Given the description of an element on the screen output the (x, y) to click on. 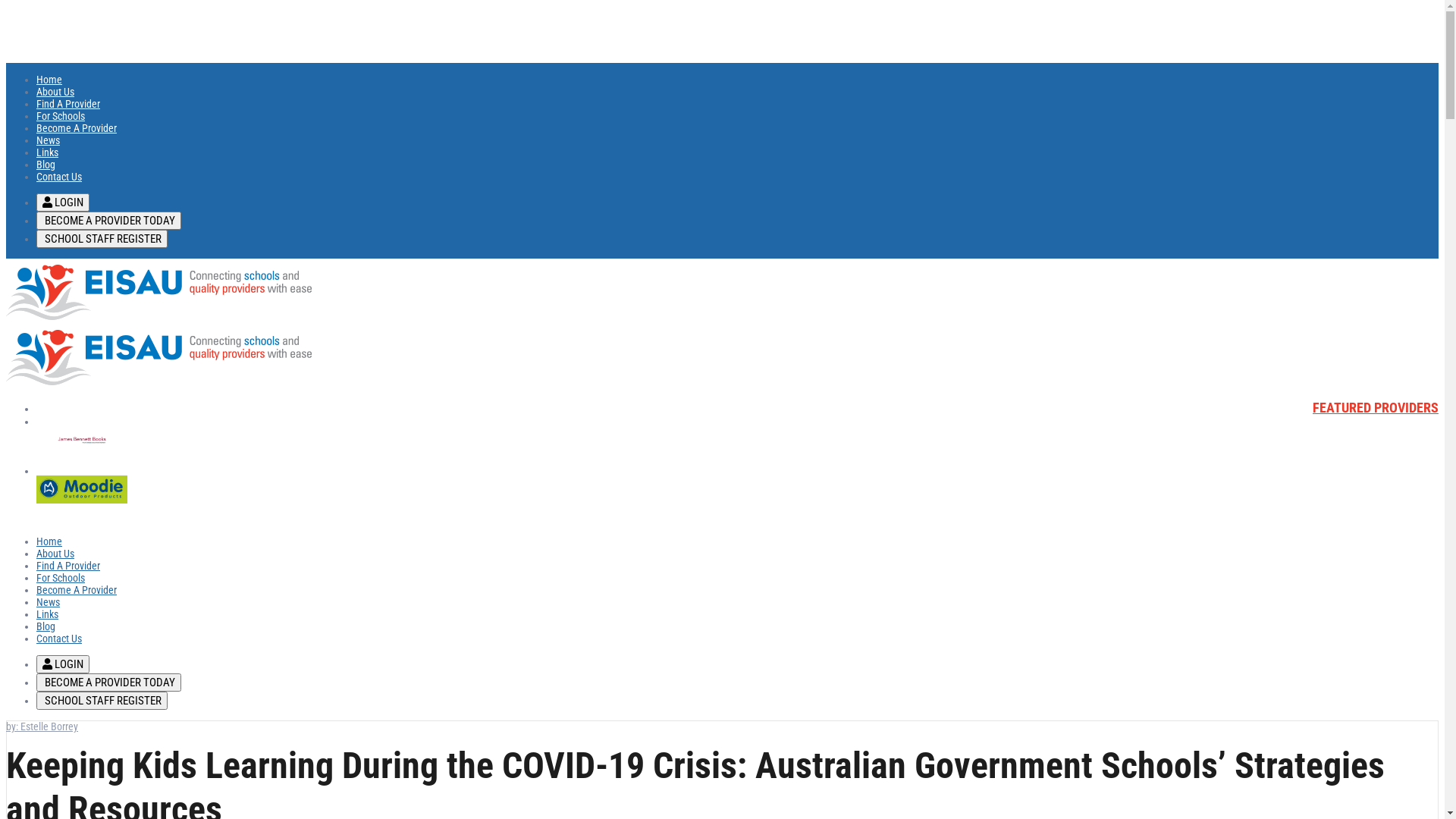
Find A Provider Element type: text (68, 565)
Links Element type: text (47, 614)
LOGIN Element type: text (62, 202)
Find A Provider Element type: text (68, 103)
BECOME A PROVIDER TODAY Element type: text (108, 220)
SCHOOL STAFF REGISTER Element type: text (101, 700)
LOGIN Element type: text (62, 664)
SCHOOL STAFF REGISTER Element type: text (101, 700)
Become A Provider Element type: text (76, 128)
Links Element type: text (47, 152)
News Element type: text (47, 140)
Contact Us Element type: text (58, 638)
FEATURED PROVIDERS Element type: text (1375, 407)
BECOME A PROVIDER TODAY Element type: text (108, 682)
LOGIN Element type: text (62, 202)
by: Estelle Borrey Element type: text (42, 726)
Home Element type: text (49, 541)
About Us Element type: text (55, 91)
Become A Provider Element type: text (76, 589)
For Schools Element type: text (60, 577)
News Element type: text (47, 602)
SCHOOL STAFF REGISTER Element type: text (101, 238)
For Schools Element type: text (60, 115)
SCHOOL STAFF REGISTER Element type: text (101, 238)
BECOME A PROVIDER TODAY Element type: text (108, 220)
BECOME A PROVIDER TODAY Element type: text (108, 682)
Blog Element type: text (45, 626)
About Us Element type: text (55, 553)
Home Element type: text (49, 79)
LOGIN Element type: text (62, 664)
Contact Us Element type: text (58, 176)
Blog Element type: text (45, 164)
